Given the description of an element on the screen output the (x, y) to click on. 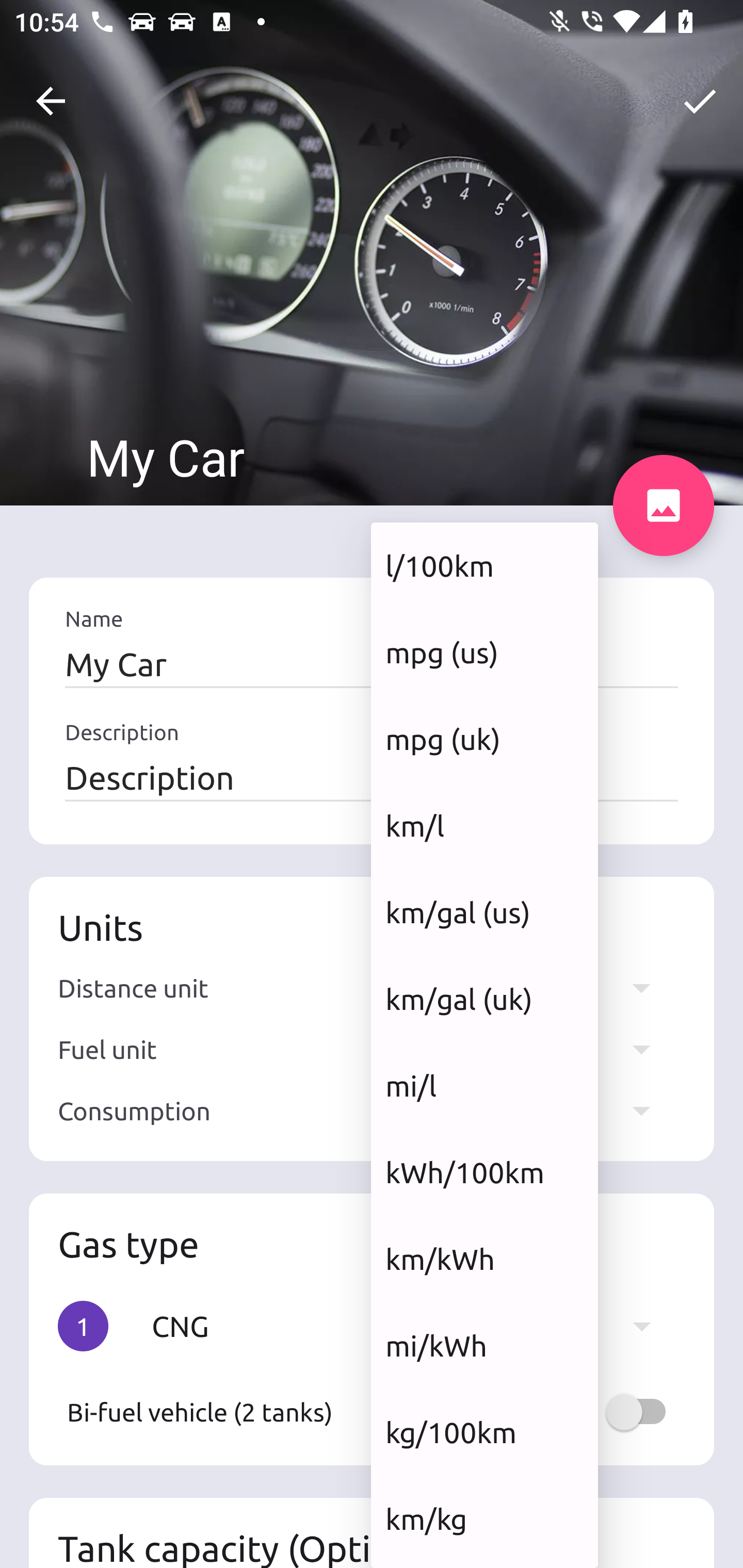
l/100km (484, 565)
mpg (us) (484, 652)
mpg (uk) (484, 739)
km/l (484, 825)
km/gal (us) (484, 912)
km/gal (uk) (484, 999)
mi/l (484, 1085)
kWh/100km (484, 1171)
km/kWh (484, 1259)
mi/kWh (484, 1346)
kg/100km (484, 1432)
km/kg (484, 1518)
